Given the description of an element on the screen output the (x, y) to click on. 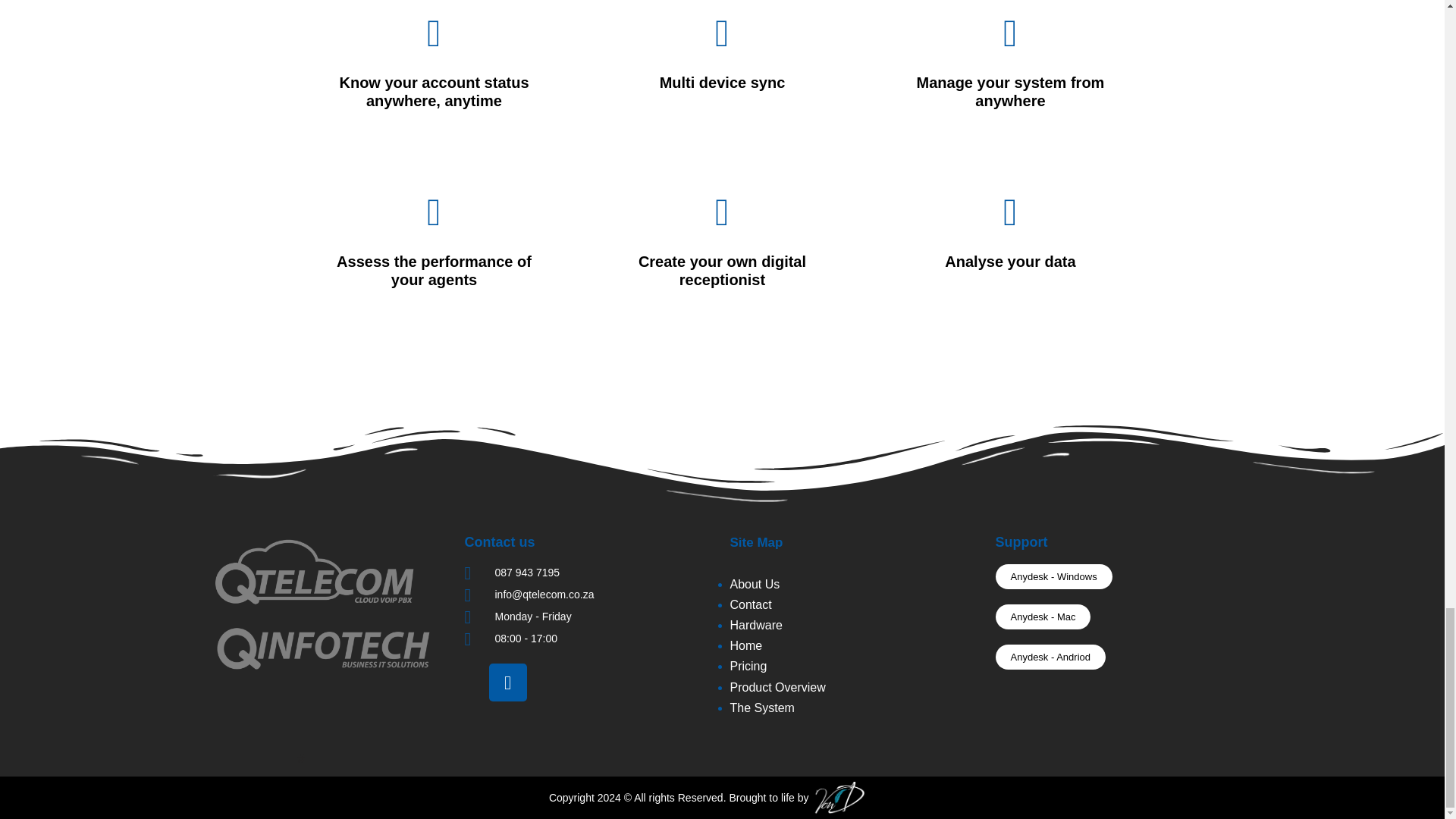
The System (761, 707)
Anydesk - Andriod (1049, 656)
087 943 7195 (589, 573)
About Us (753, 584)
Product Overview (777, 686)
Hardware (755, 625)
Contact (750, 604)
Anydesk - Mac (1042, 616)
Home (745, 645)
Anydesk - Windows (1053, 576)
